Given the description of an element on the screen output the (x, y) to click on. 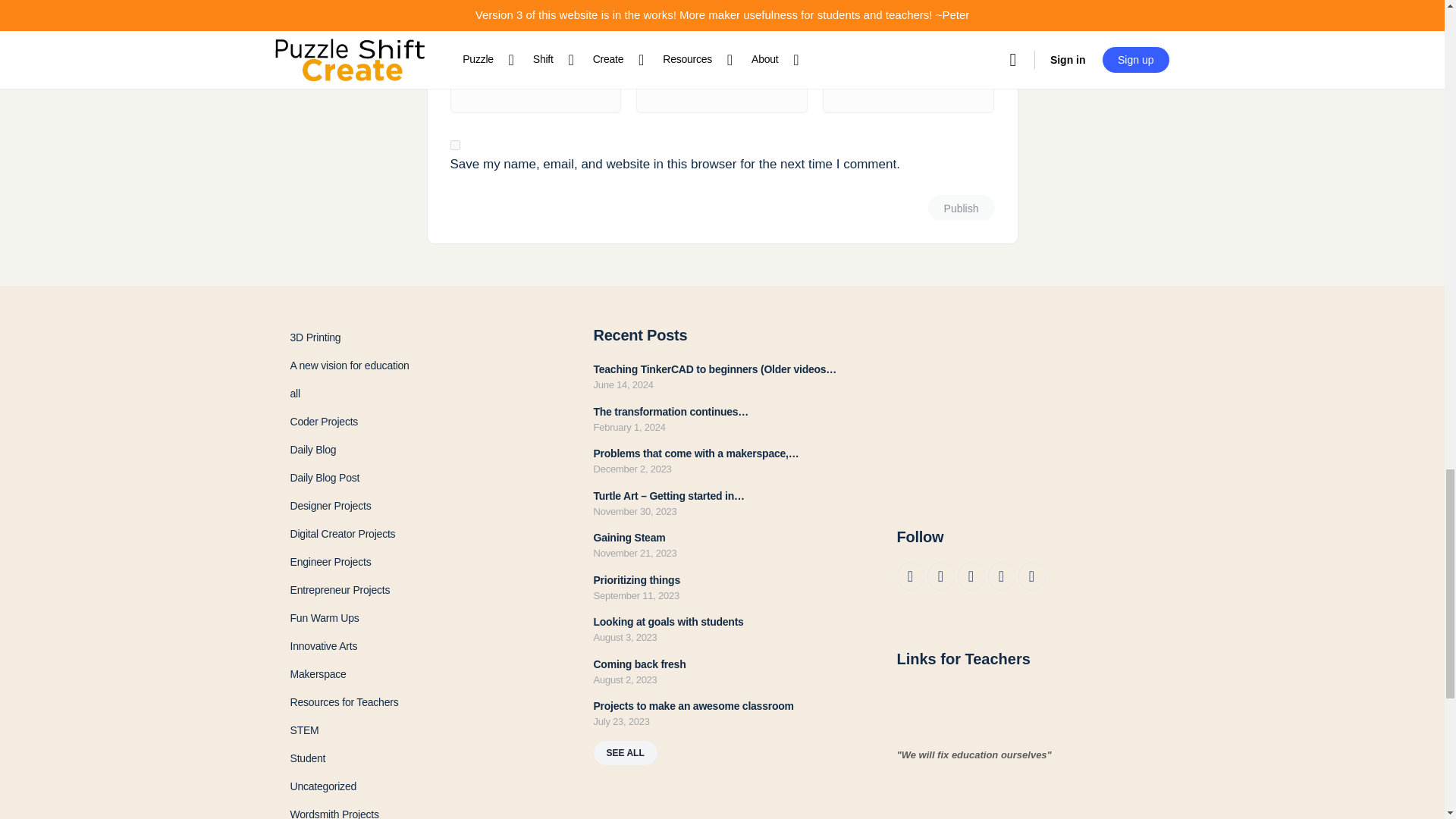
yes (454, 144)
Publish (961, 207)
